Given the description of an element on the screen output the (x, y) to click on. 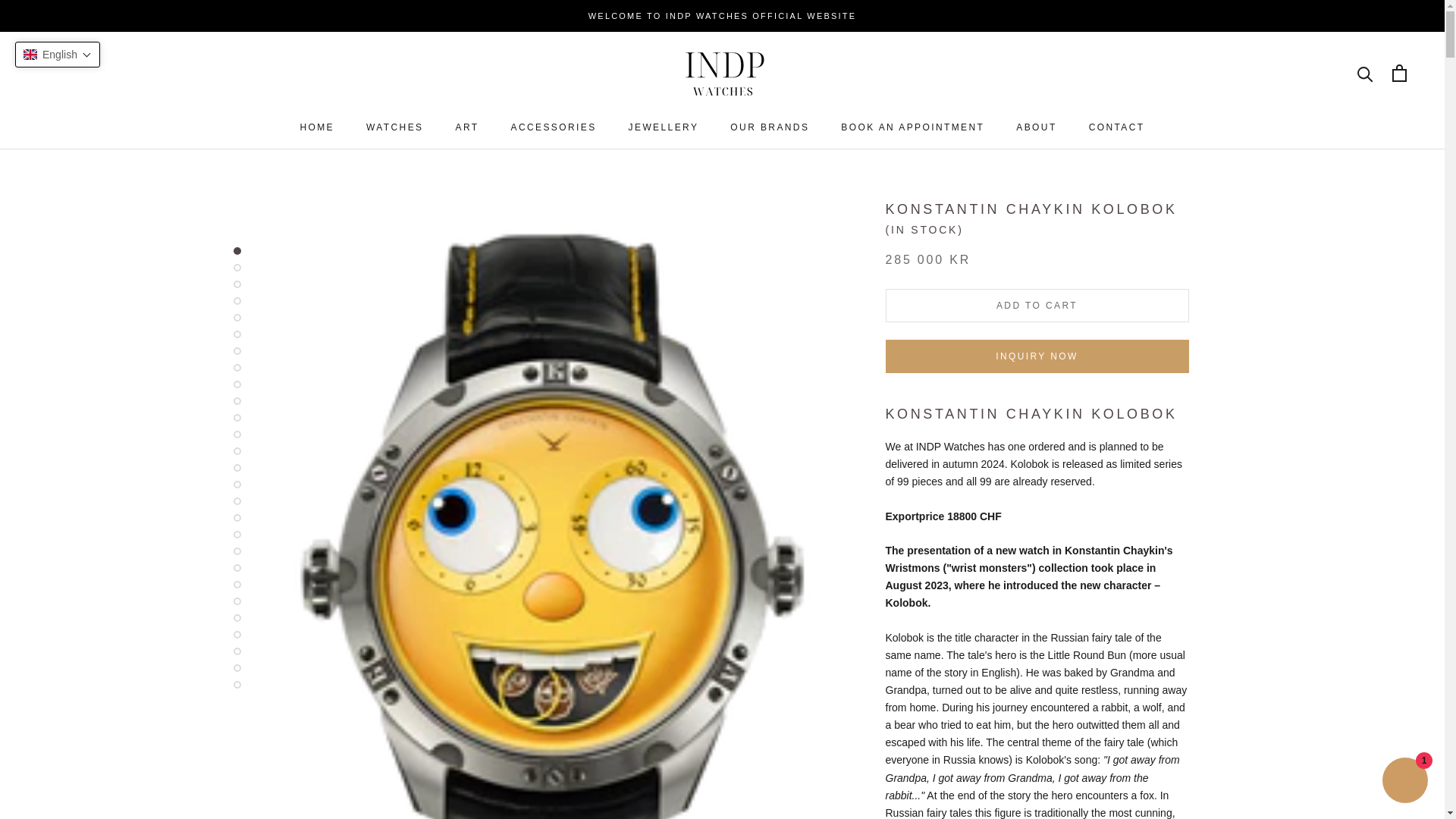
WELCOME TO INDP WATCHES OFFICIAL WEBSITE (466, 127)
Shopify online store chat (722, 15)
